Given the description of an element on the screen output the (x, y) to click on. 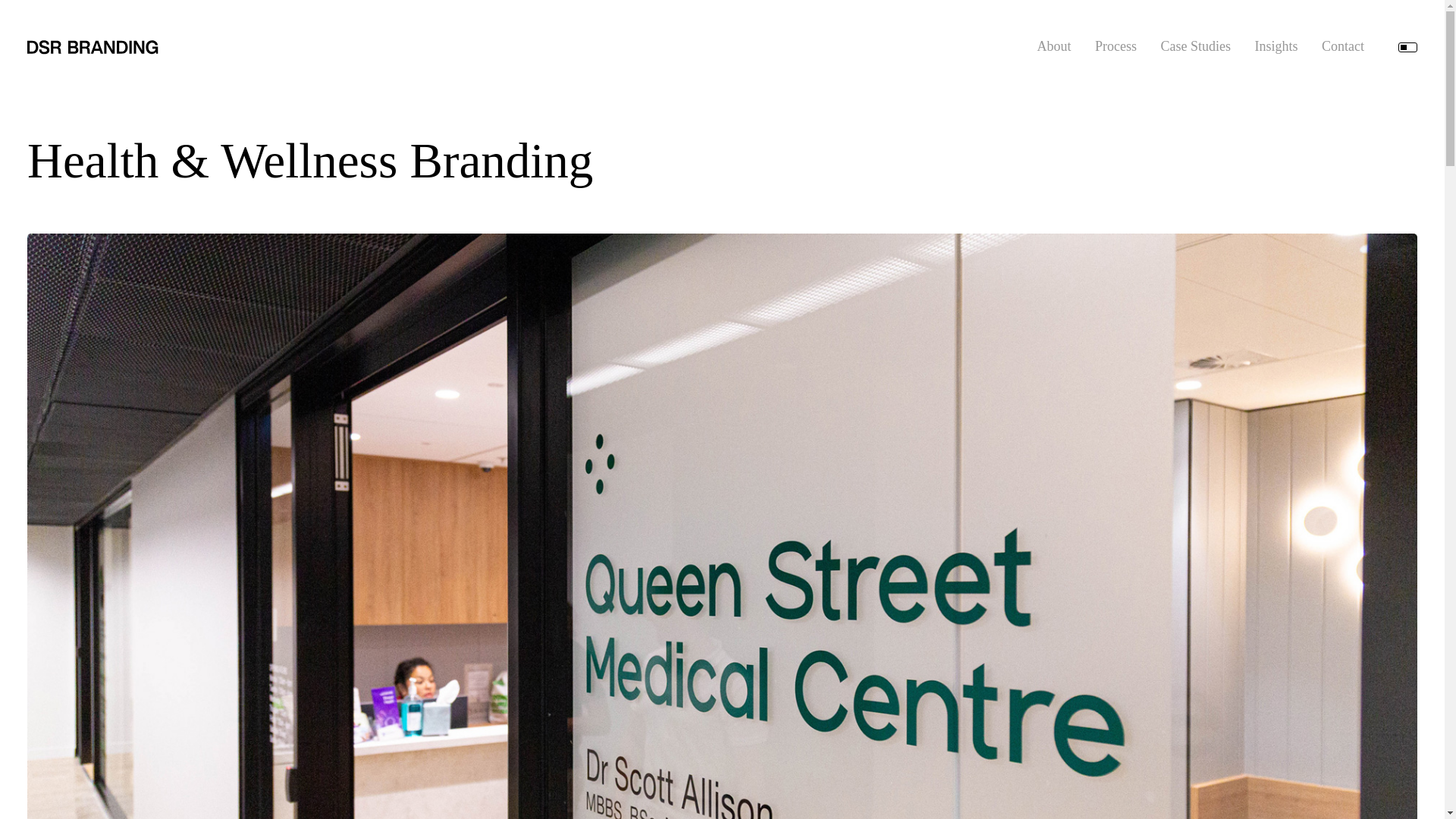
Process (1115, 46)
Case Studies (1195, 46)
Insights (1275, 46)
About (1053, 46)
Contact (1343, 46)
